Given the description of an element on the screen output the (x, y) to click on. 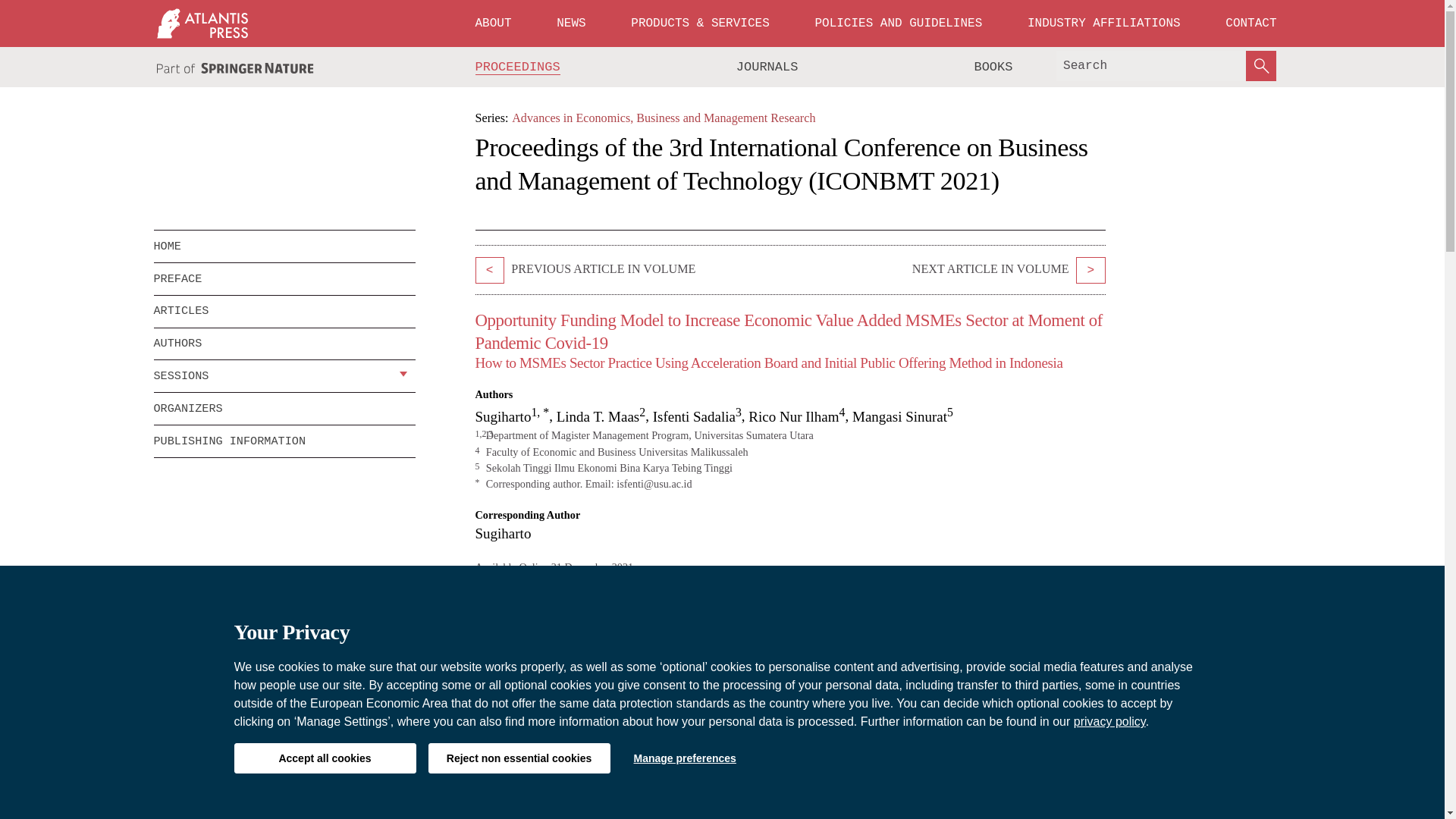
JOURNALS (767, 66)
AUTHORS (283, 344)
SESSIONS (273, 376)
POLICIES AND GUIDELINES (897, 23)
PROCEEDINGS (518, 66)
HOME (283, 246)
Accept all cookies (323, 757)
Advances in Economics, Business and Management Research (663, 117)
Reject non essential cookies (519, 757)
NEWS (570, 23)
